Given the description of an element on the screen output the (x, y) to click on. 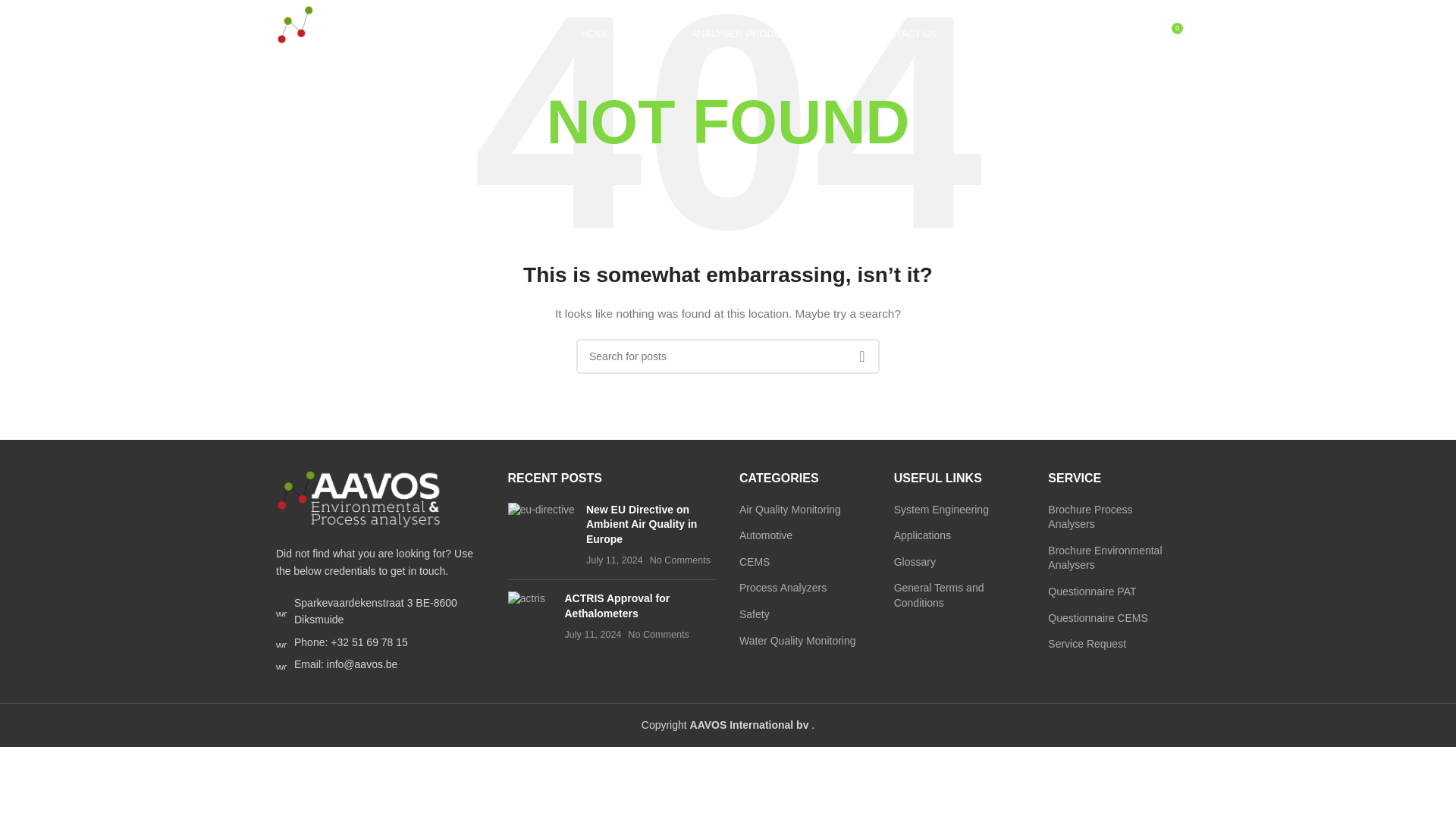
wd-envelope-light (281, 664)
My account (1103, 33)
ABOUT US (650, 33)
wd-phone-light (281, 642)
ANALYSER PRODUCTS (747, 33)
wd-cursor-light (281, 611)
Search for posts (727, 356)
Permalink to ACTRIS Approval for Aethalometers (616, 605)
HOME (595, 33)
